Given the description of an element on the screen output the (x, y) to click on. 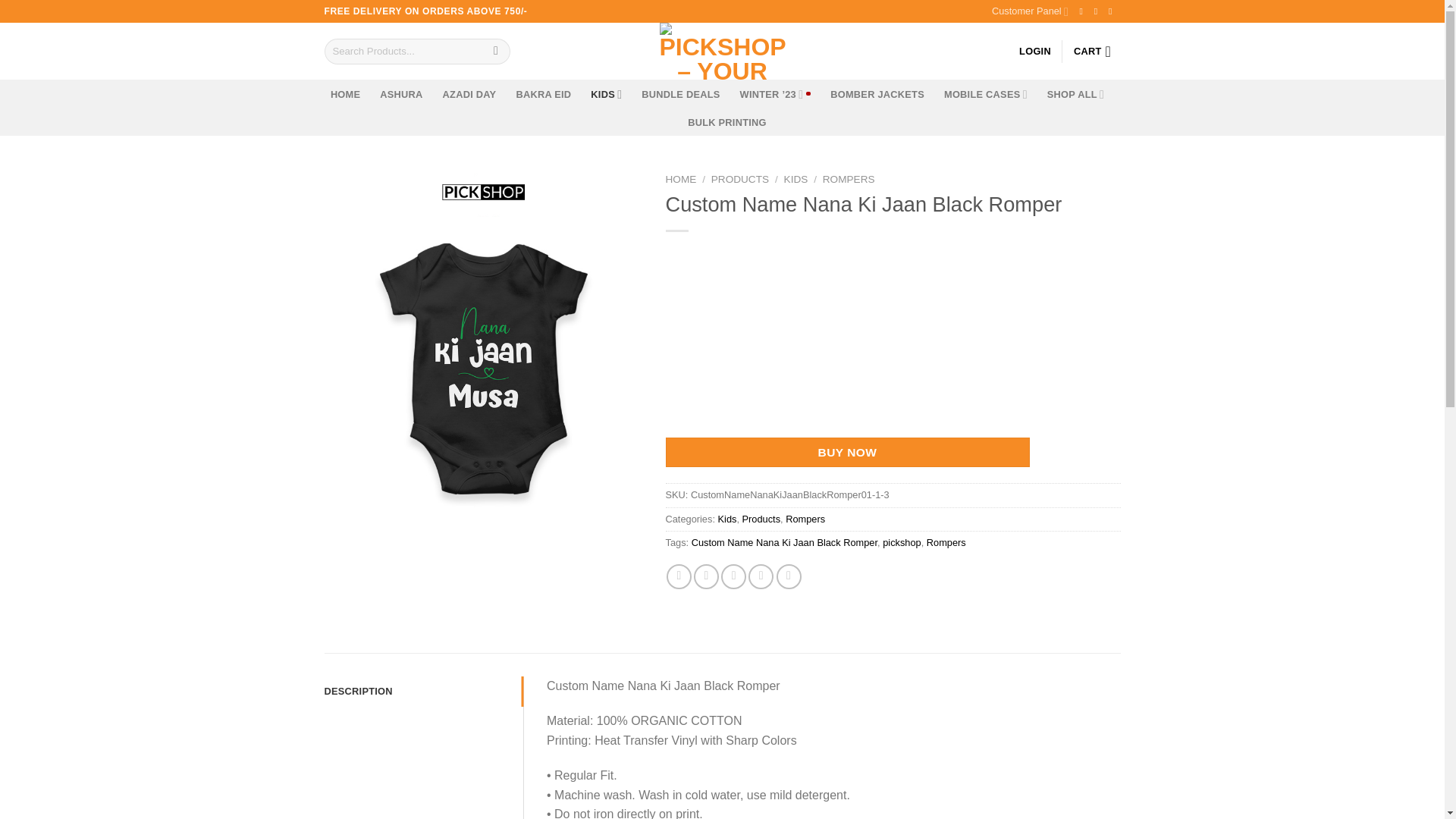
LOGIN (1035, 51)
Search (495, 51)
Share on LinkedIn (789, 576)
BAKRA EID (542, 94)
Share on Twitter (706, 576)
CART (1097, 51)
Login (1035, 51)
Email to a Friend (732, 576)
Share on Facebook (678, 576)
Pin on Pinterest (760, 576)
